Given the description of an element on the screen output the (x, y) to click on. 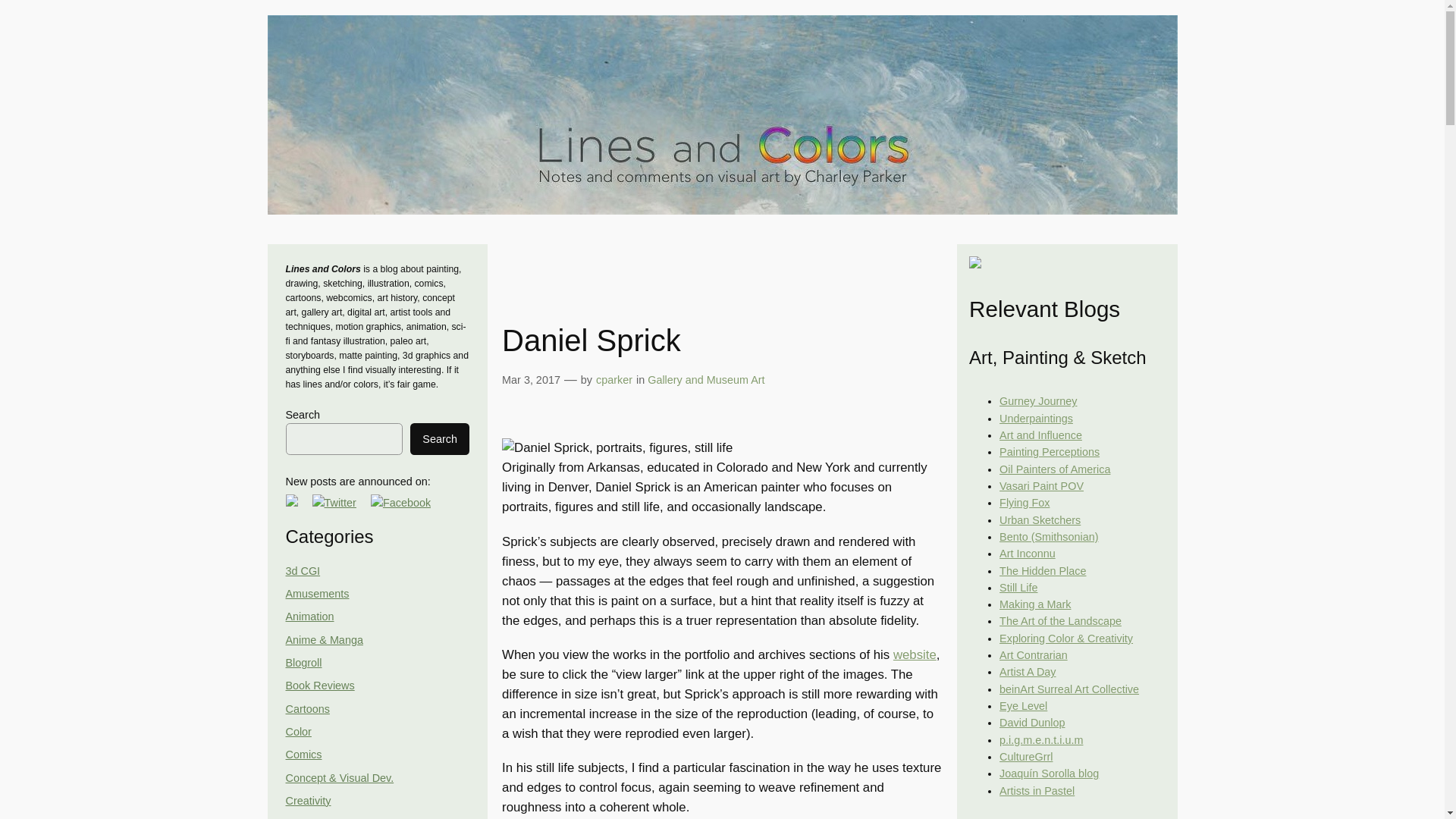
Search (439, 439)
Comics (303, 754)
Animation (309, 616)
Cartoons (307, 708)
Creativity (307, 800)
3d CGI (302, 571)
Blogroll (303, 662)
Book Reviews (319, 685)
Digital Art (308, 818)
Color (298, 731)
